Given the description of an element on the screen output the (x, y) to click on. 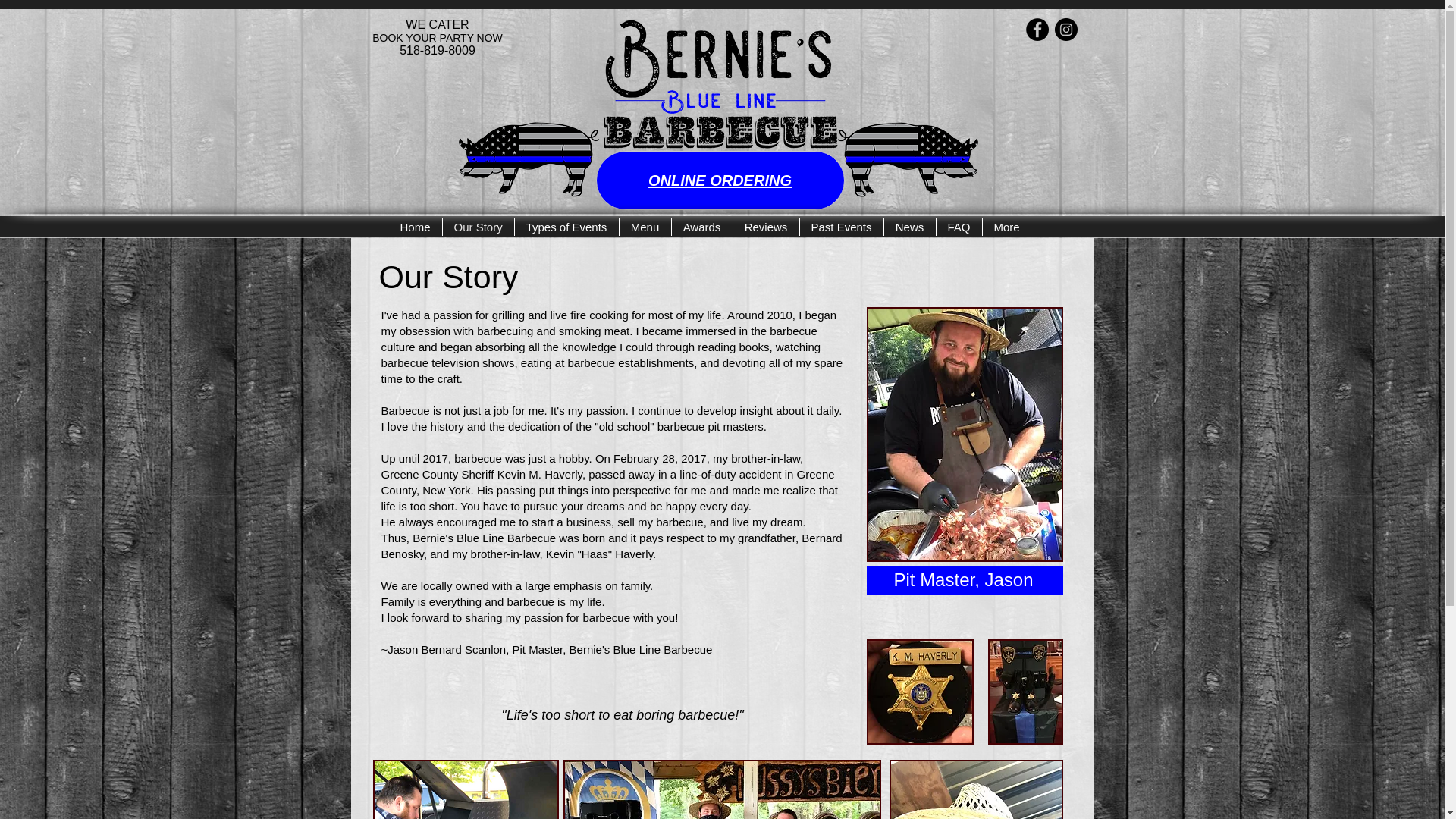
Types of Events (565, 226)
Menu (643, 226)
FAQ (958, 226)
Reviews (764, 226)
Home (414, 226)
Past Events (840, 226)
Awards (701, 226)
ONLINE ORDERING (719, 179)
Our Story (477, 226)
News (909, 226)
